Given the description of an element on the screen output the (x, y) to click on. 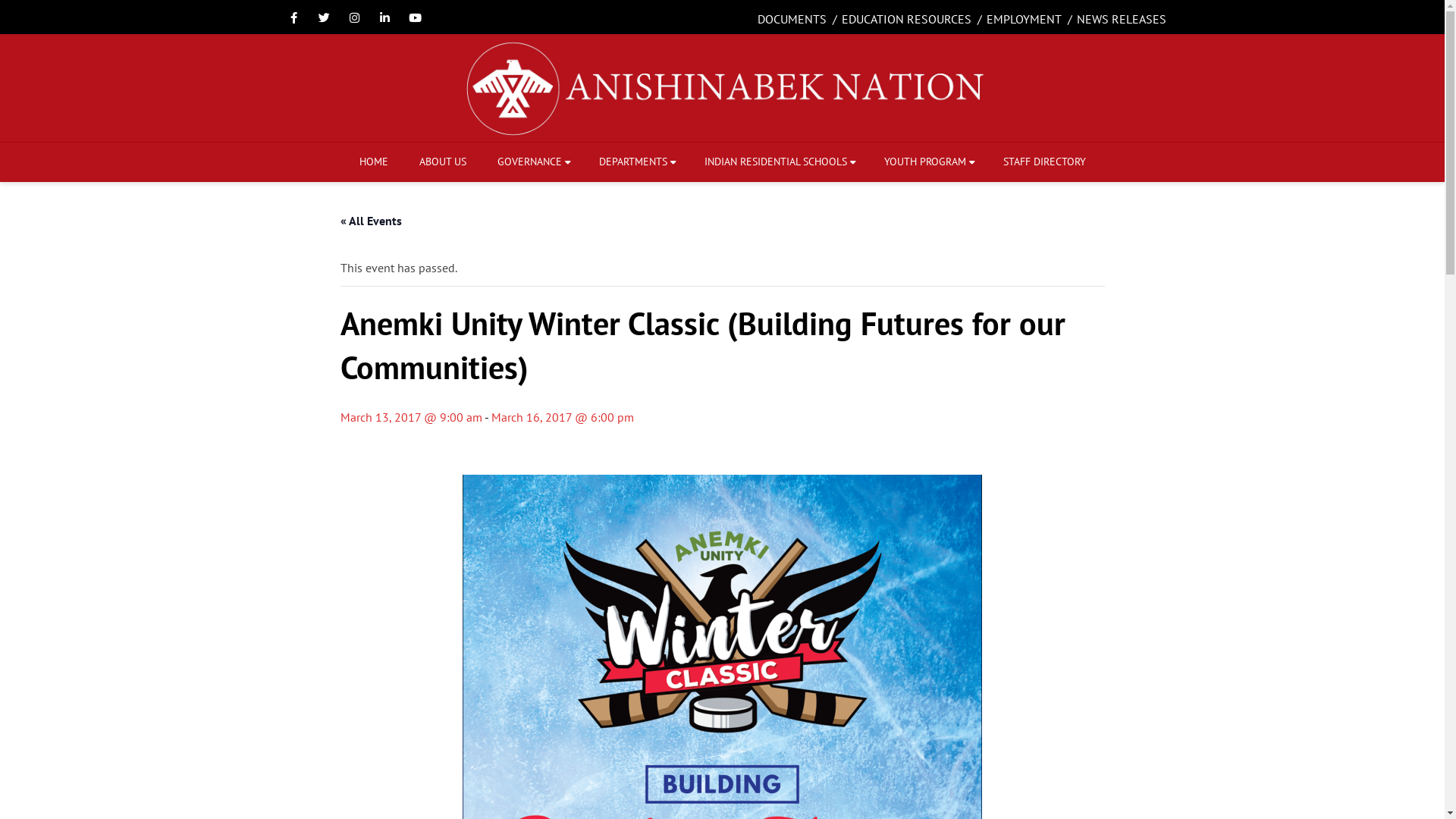
ABOUT US Element type: text (442, 161)
INDIAN RESIDENTIAL SCHOOLS Element type: text (777, 161)
EDUCATION RESOURCES Element type: text (906, 18)
NEWS RELEASES Element type: text (1121, 18)
GOVERNANCE Element type: text (532, 161)
DOCUMENTS Element type: text (790, 18)
EMPLOYMENT Element type: text (1022, 18)
DEPARTMENTS Element type: text (635, 161)
YOUTH PROGRAM Element type: text (927, 161)
UNION OF ONTARIO INDIANS Element type: hover (722, 88)
HOME Element type: text (373, 161)
STAFF DIRECTORY Element type: text (1043, 161)
